Given the description of an element on the screen output the (x, y) to click on. 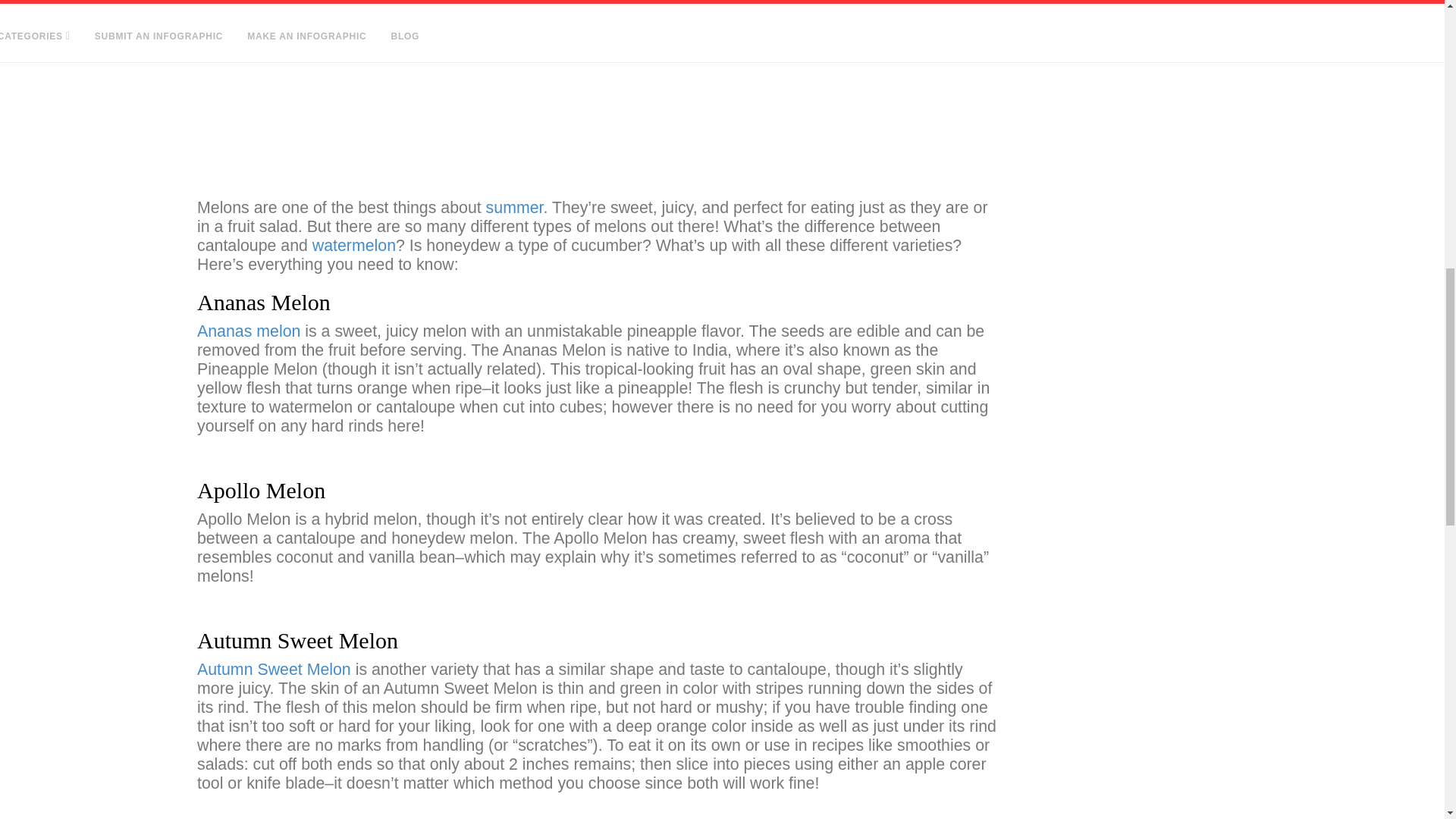
The Definitive Guide To All The Different Melons (597, 92)
